Given the description of an element on the screen output the (x, y) to click on. 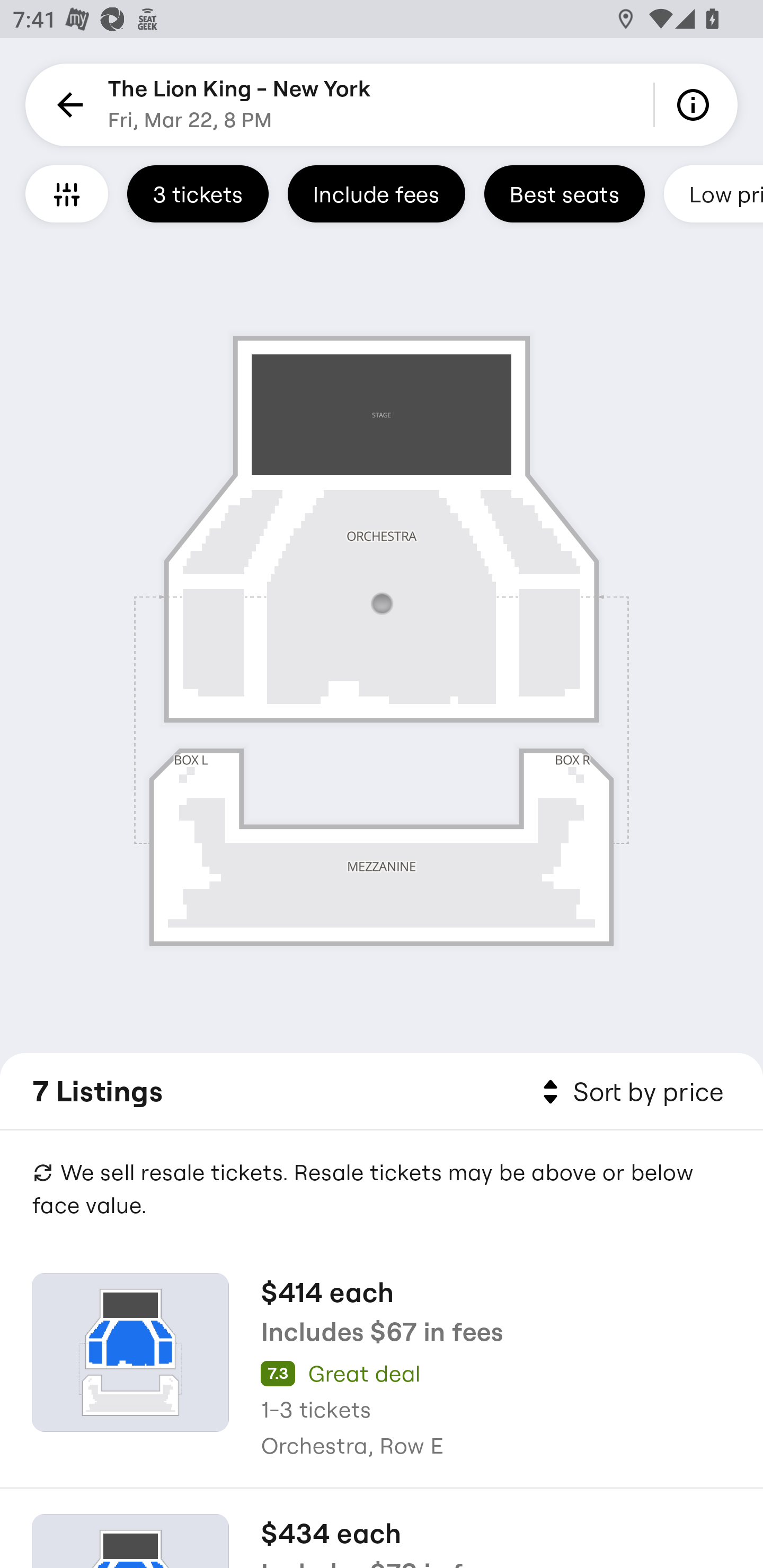
Back (66, 104)
The Lion King - New York Fri, Mar 22, 8 PM (239, 104)
Info (695, 104)
Filters and Accessible Seating (66, 193)
3 tickets (197, 193)
Include fees (376, 193)
Best seats (564, 193)
Low prices (713, 193)
Sort by price (629, 1091)
